Given the description of an element on the screen output the (x, y) to click on. 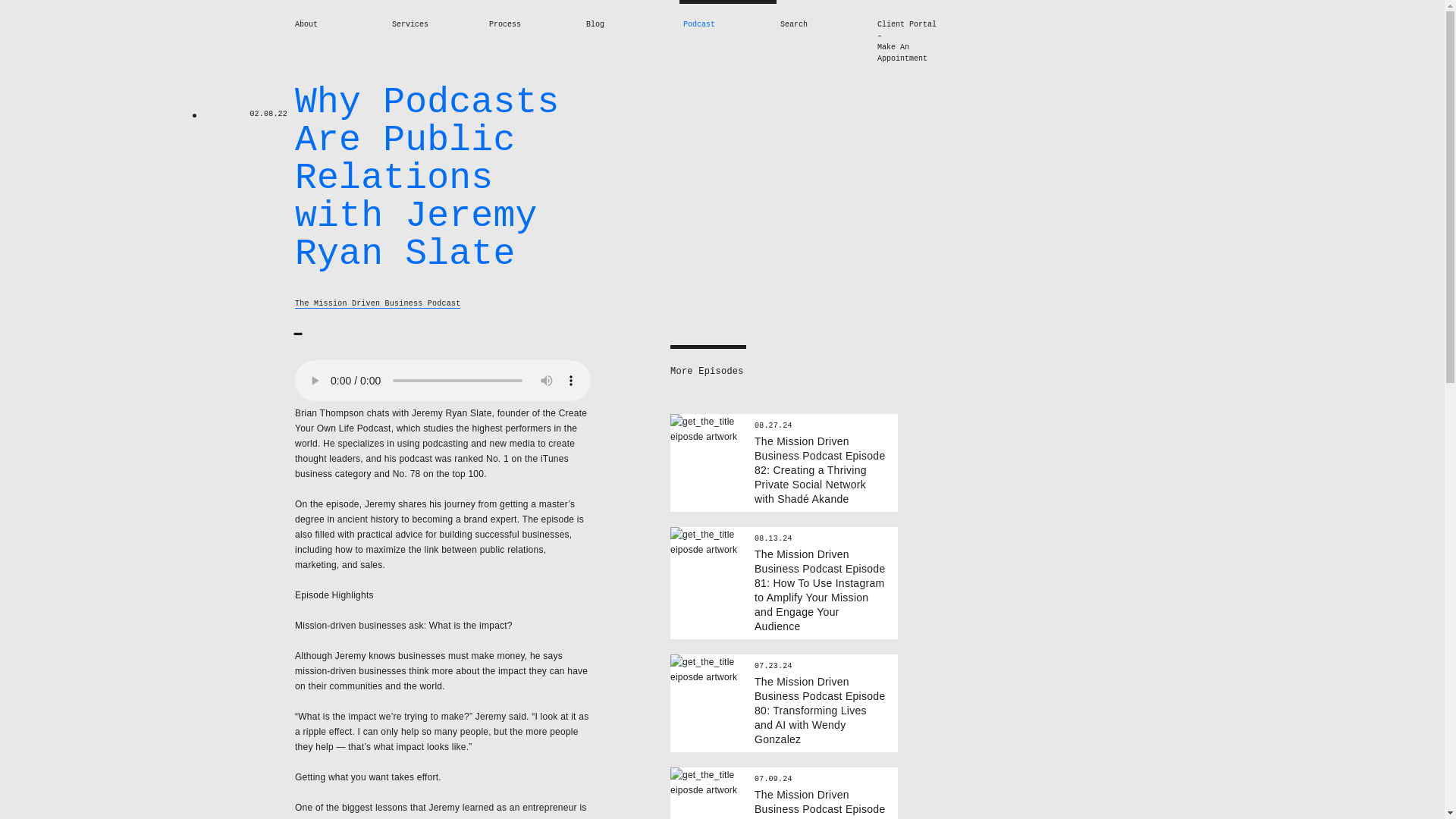
Podcast (698, 24)
Services (409, 24)
About (306, 24)
Client Portal (915, 24)
Blog (595, 24)
Search (794, 24)
The Mission Driven Business Podcast (377, 303)
